Given the description of an element on the screen output the (x, y) to click on. 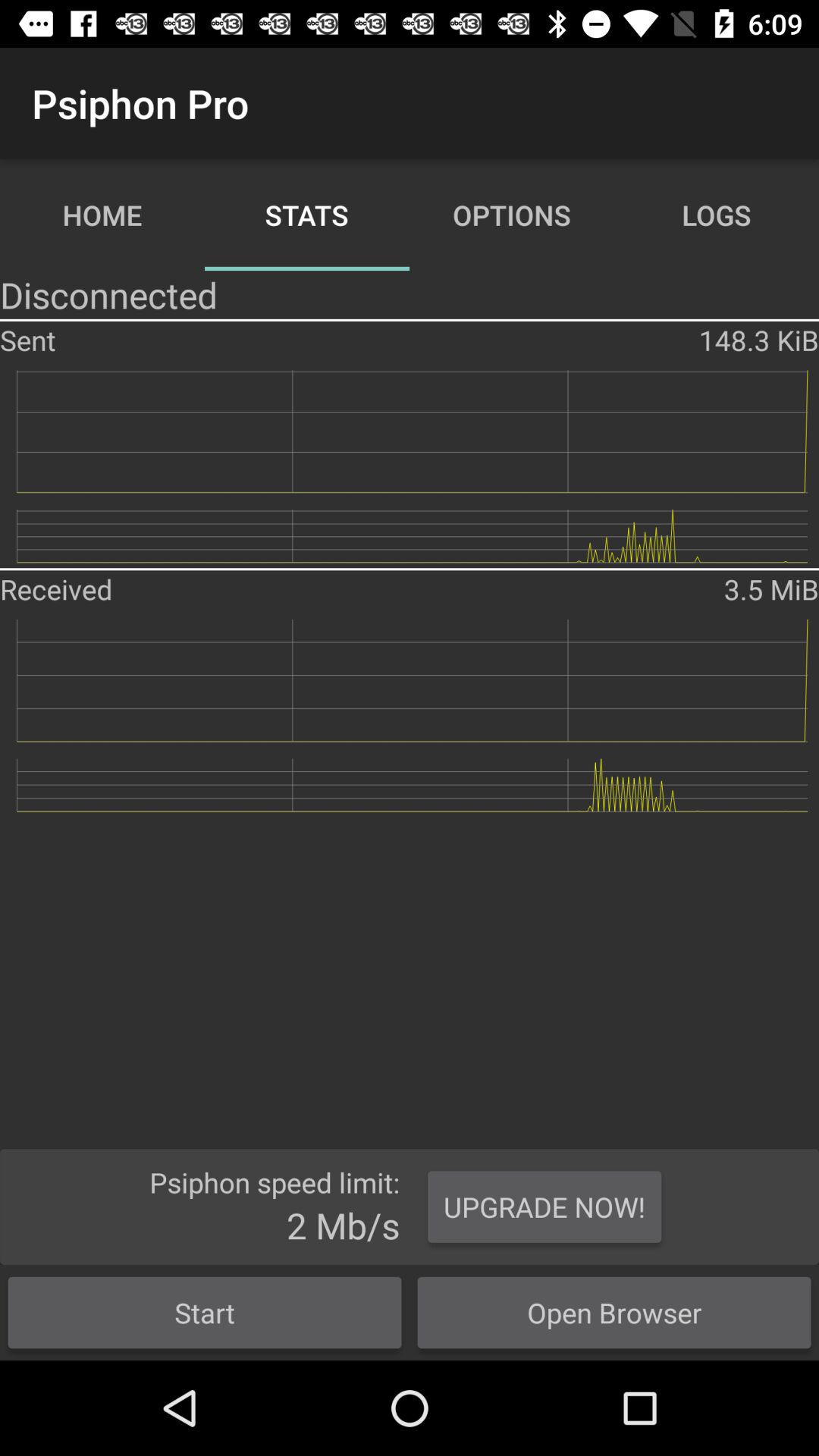
select item above open browser icon (544, 1206)
